Given the description of an element on the screen output the (x, y) to click on. 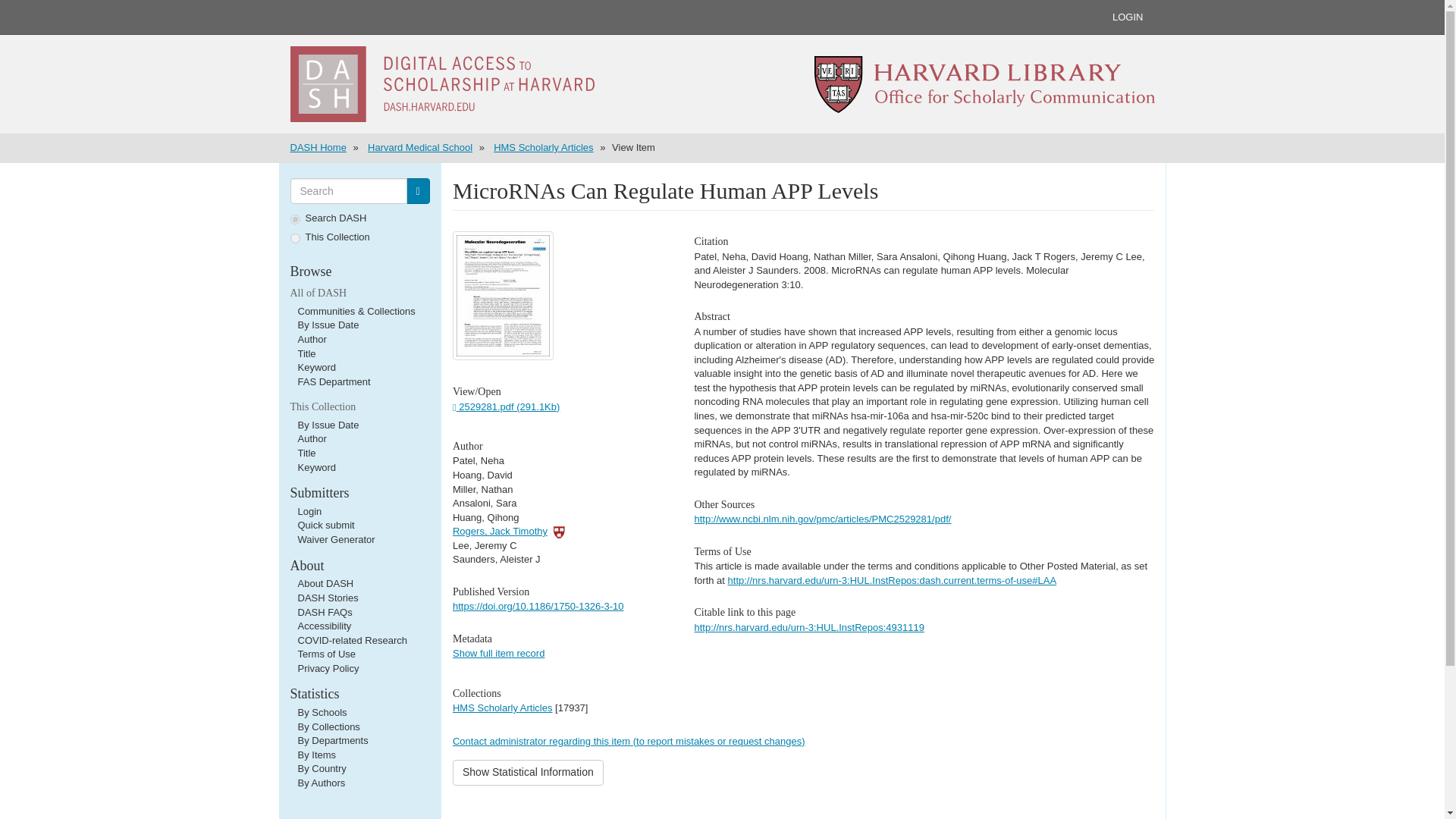
Login (309, 511)
By Issue Date (327, 324)
FAS Department (333, 381)
Quick submit (325, 524)
HMS Scholarly Articles (542, 147)
DASH Home (317, 147)
Author (311, 438)
Title (306, 353)
Waiver Generator (335, 539)
Title (306, 452)
Keyword (316, 367)
By Issue Date (327, 424)
Go (417, 190)
LOGIN (1127, 17)
Harvard Medical School (419, 147)
